Given the description of an element on the screen output the (x, y) to click on. 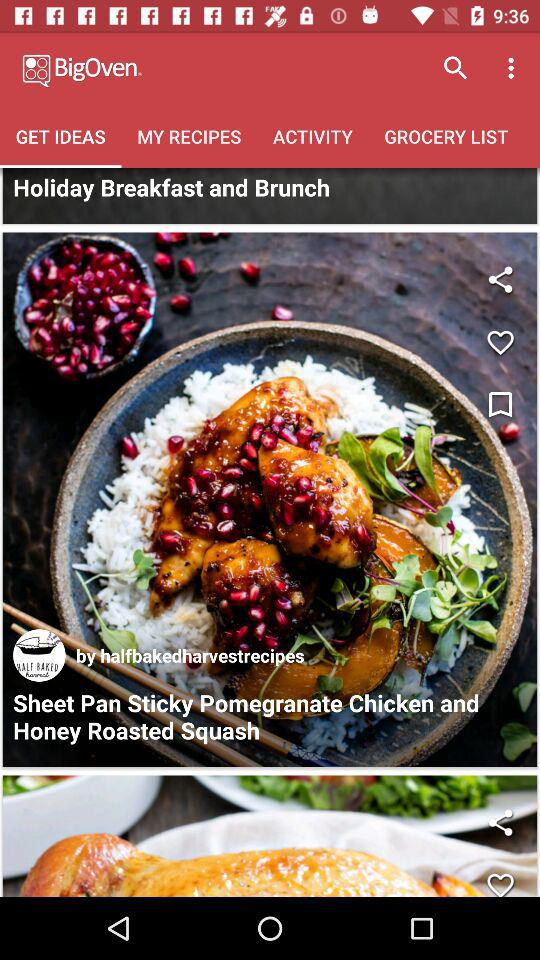
go to recipe (269, 499)
